Given the description of an element on the screen output the (x, y) to click on. 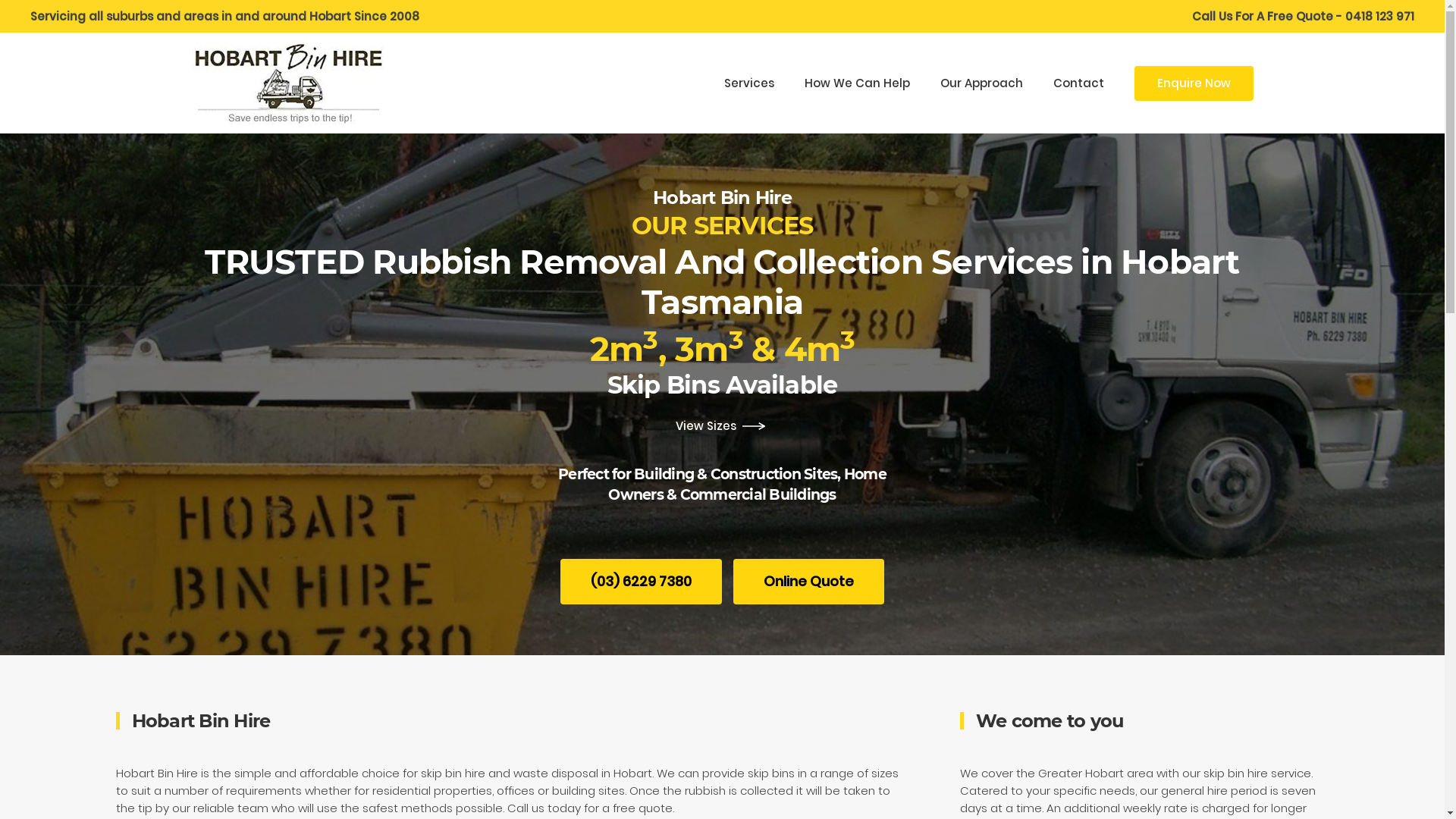
(03) 6229 7380 Element type: text (640, 581)
Contact Element type: text (1077, 83)
Online Quote Element type: text (808, 581)
View Sizes Element type: text (721, 425)
Services Element type: text (748, 83)
How We Can Help Element type: text (856, 83)
Our Approach Element type: text (981, 83)
Enquire Now Element type: text (1193, 82)
